Given the description of an element on the screen output the (x, y) to click on. 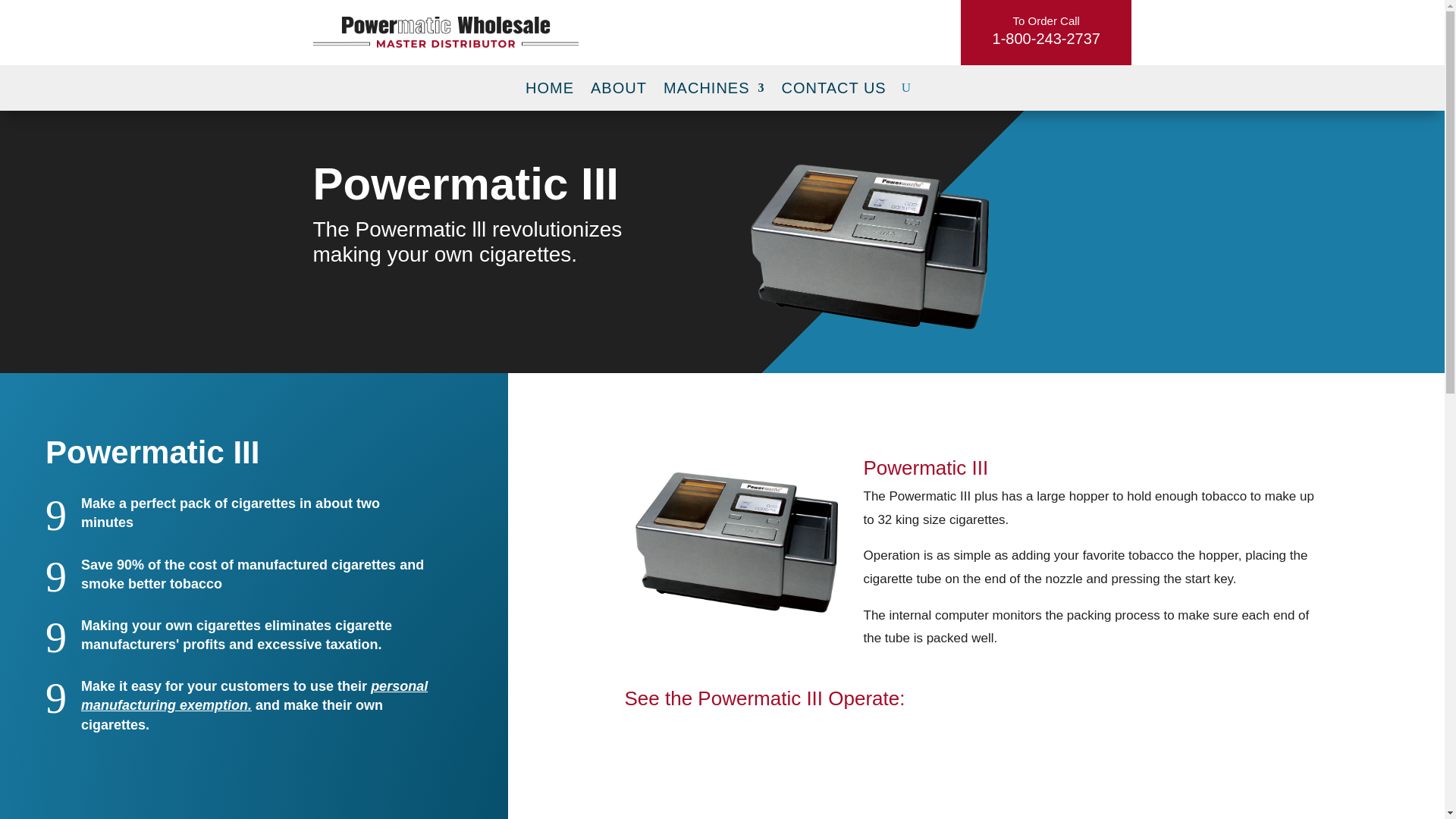
PM-III-plus-transparent (869, 246)
ABOUT (618, 89)
personal manufacturing exemption. (254, 695)
HOME (549, 89)
Powermatic III (975, 782)
CONTACT US (833, 89)
MACHINES (714, 89)
